Given the description of an element on the screen output the (x, y) to click on. 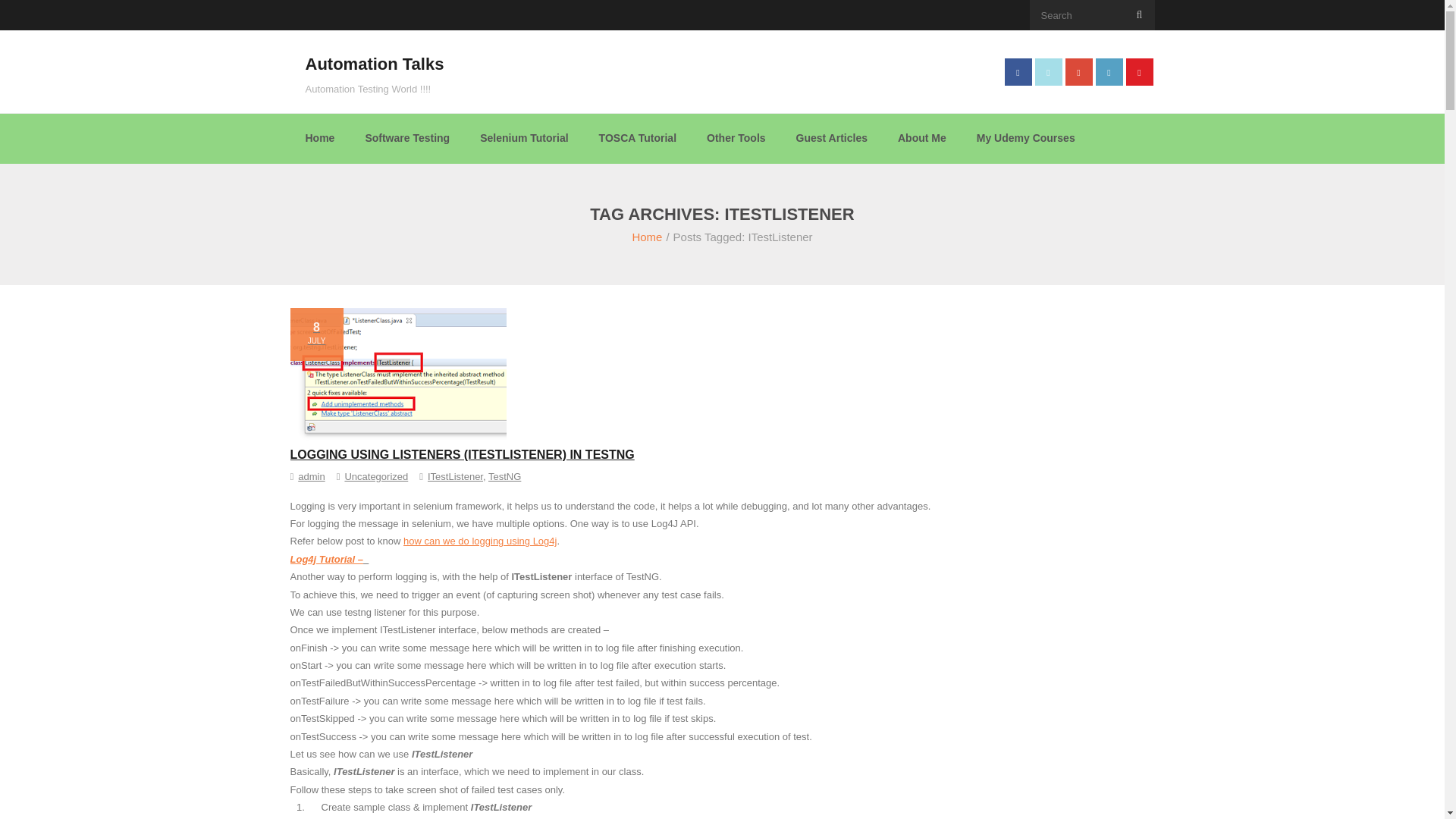
About Me (921, 137)
TOSCA Tutorial (637, 137)
Automation Testing World !!!! (374, 89)
My Udemy Courses (1025, 137)
View all posts by admin (311, 476)
Other Tools (735, 137)
Software Testing (406, 137)
Selenium Tutorial (523, 137)
Guest Articles (831, 137)
